Given the description of an element on the screen output the (x, y) to click on. 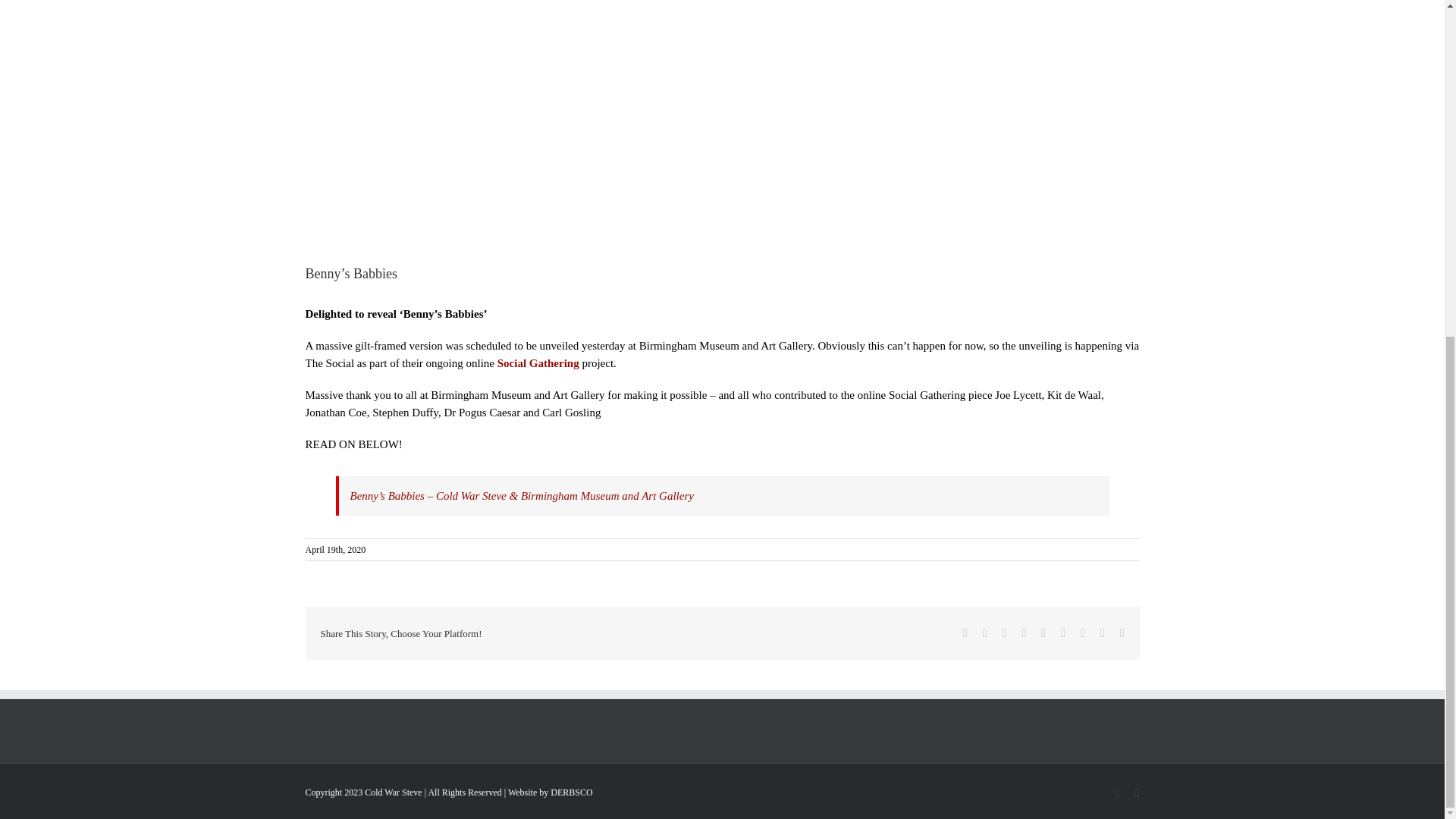
Website by DERBSCO (550, 792)
Social Gathering (538, 363)
